Given the description of an element on the screen output the (x, y) to click on. 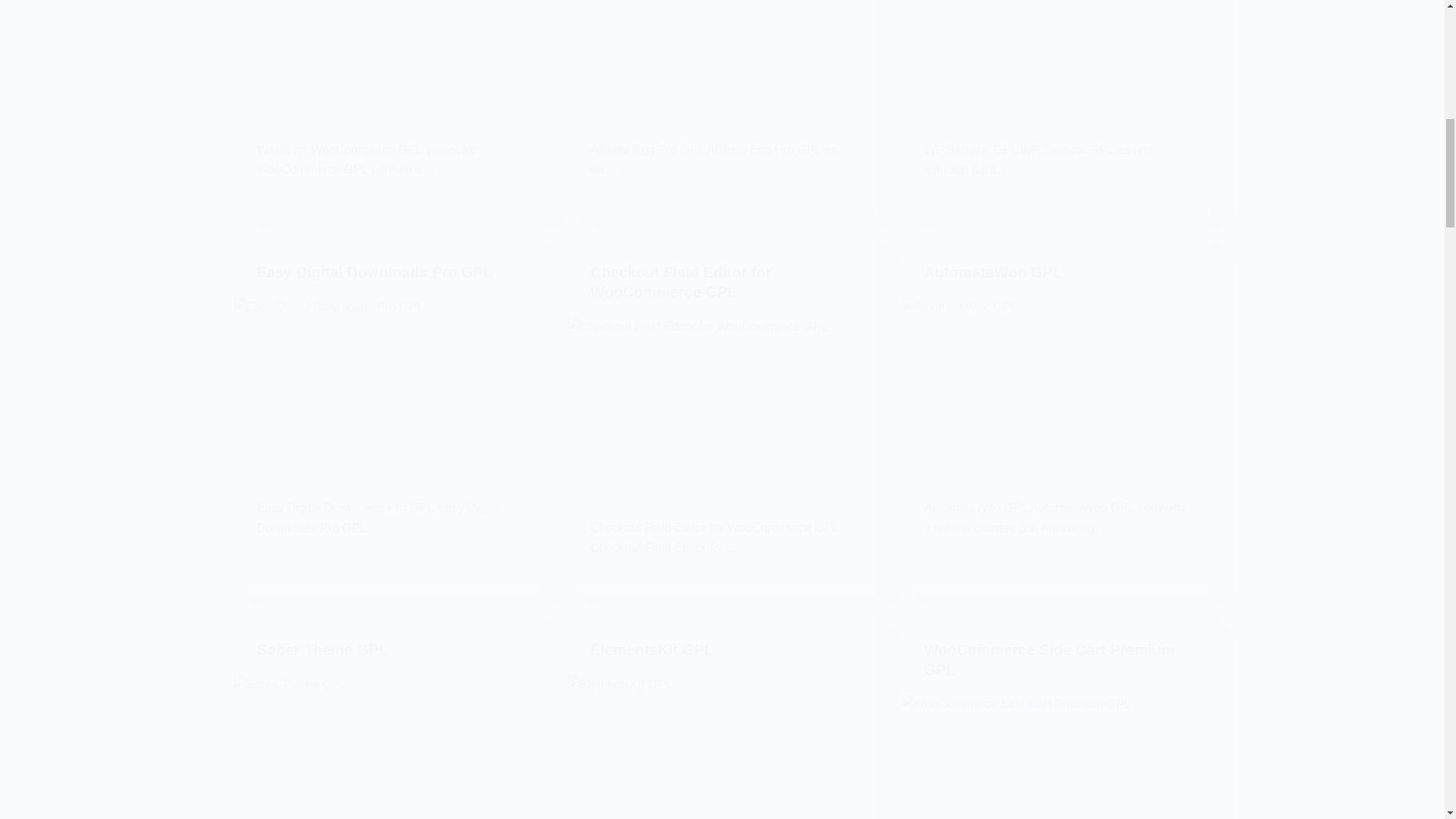
AutomateWoo GPL (1055, 384)
Sober Theme GPL (387, 746)
Checkout Field Editor for WooCommerce GPL (721, 403)
Wallet for WooCommerce GPL (387, 56)
ElementsKit GPL (721, 746)
WP Safelink GPL (1055, 56)
WooCommerce Side Cart Premium GPL (1055, 756)
Easy Digital Downloads Pro GPL (387, 384)
Affiliate Egg Pro GPL (721, 56)
